Given the description of an element on the screen output the (x, y) to click on. 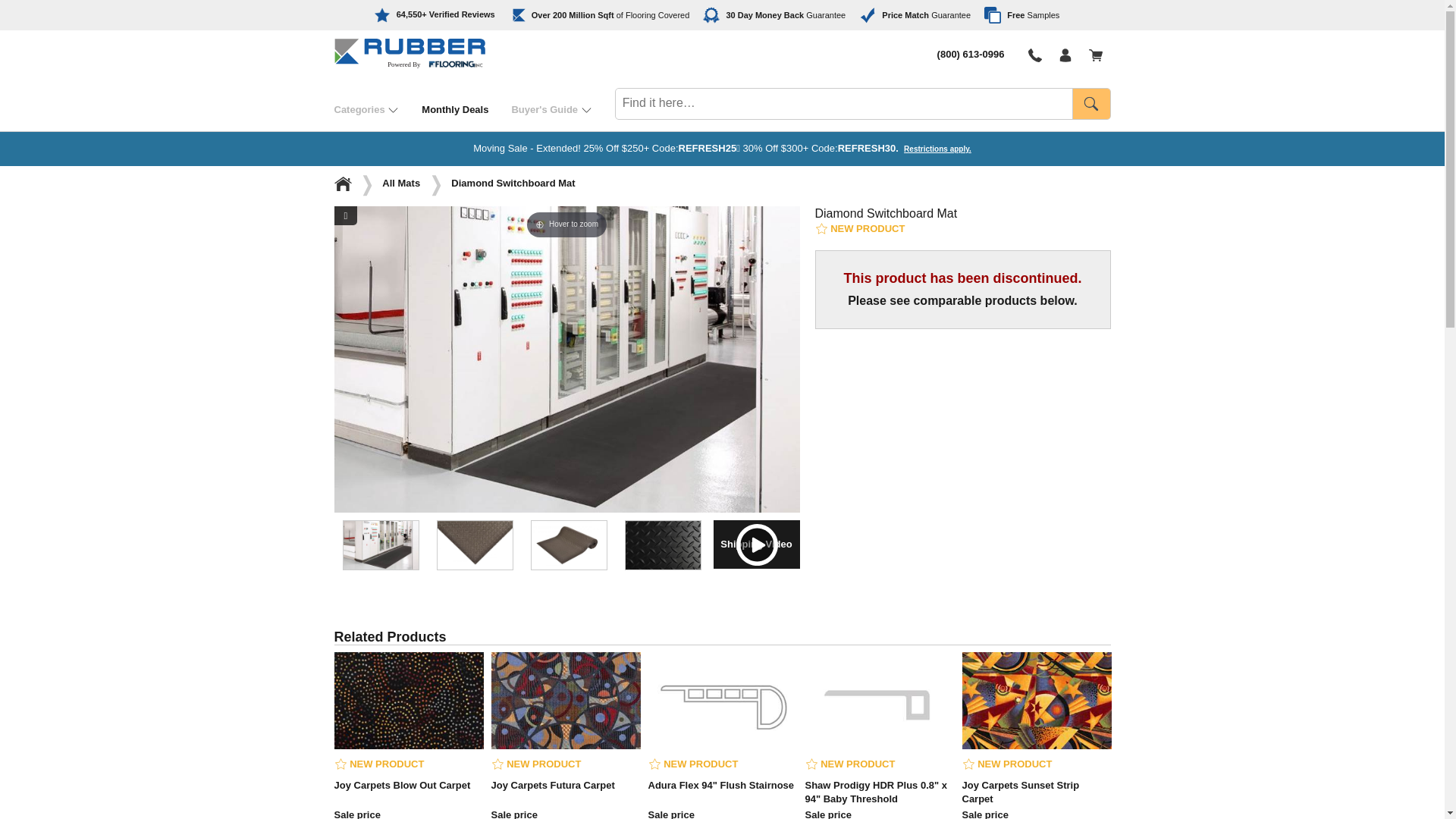
This product has no reviews (536, 763)
Categories (377, 109)
Search (1090, 103)
Free Samples (1021, 14)
This product has no reviews (692, 763)
Price Match Guarantee (915, 14)
30 Day Money Back Guarantee (774, 14)
This product has no reviews (1005, 763)
square feet (604, 14)
Full size image (344, 215)
